Given the description of an element on the screen output the (x, y) to click on. 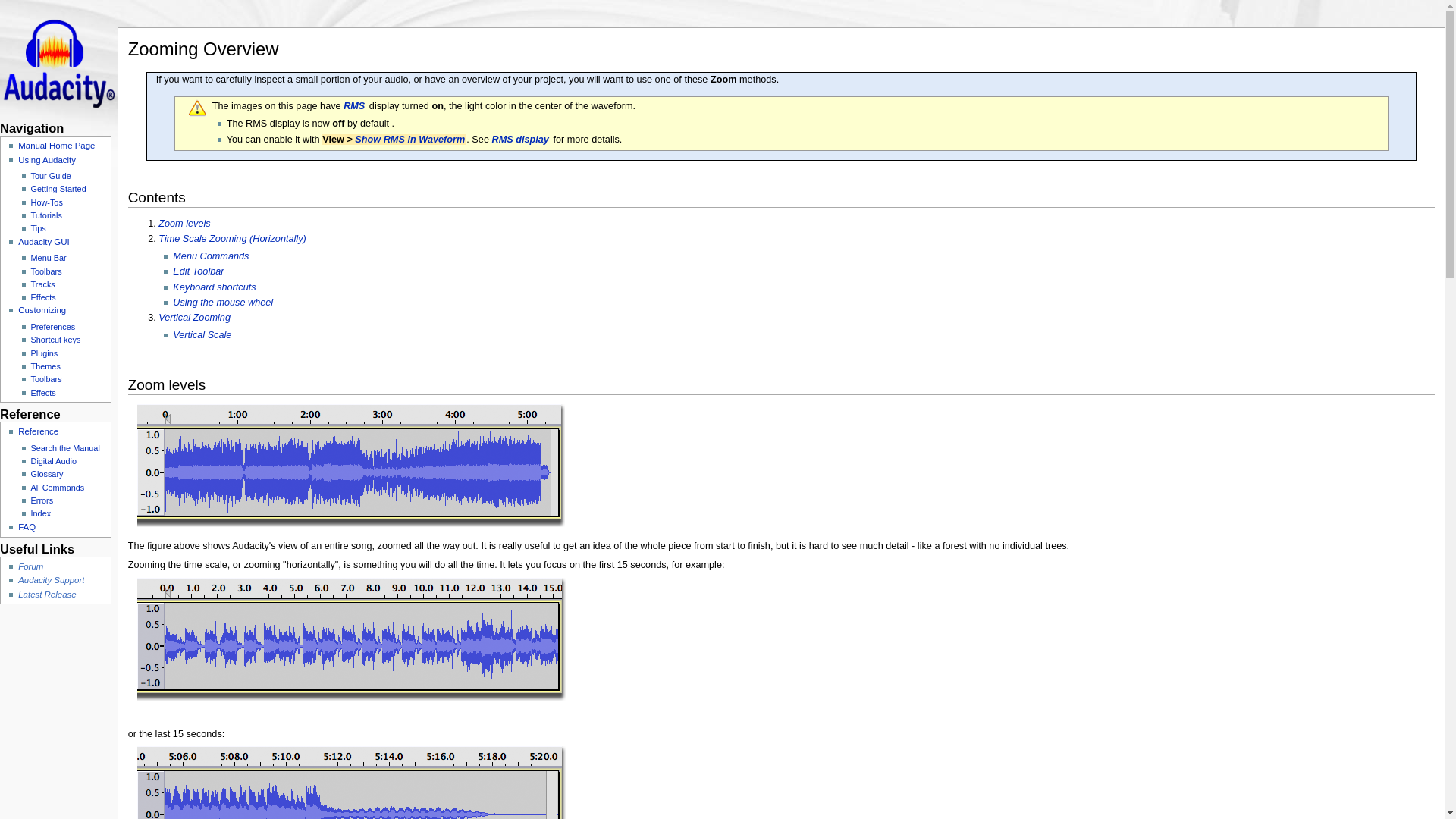
Glossary (354, 105)
Vertical Zooming (194, 317)
Edit Toolbar (199, 271)
Menu Commands (211, 255)
Show RMS in Waveform (410, 139)
View Menu (410, 139)
How-Tos (46, 202)
The first 15 seconds of the same song (351, 642)
RMS display (521, 139)
RMS (354, 105)
